Given the description of an element on the screen output the (x, y) to click on. 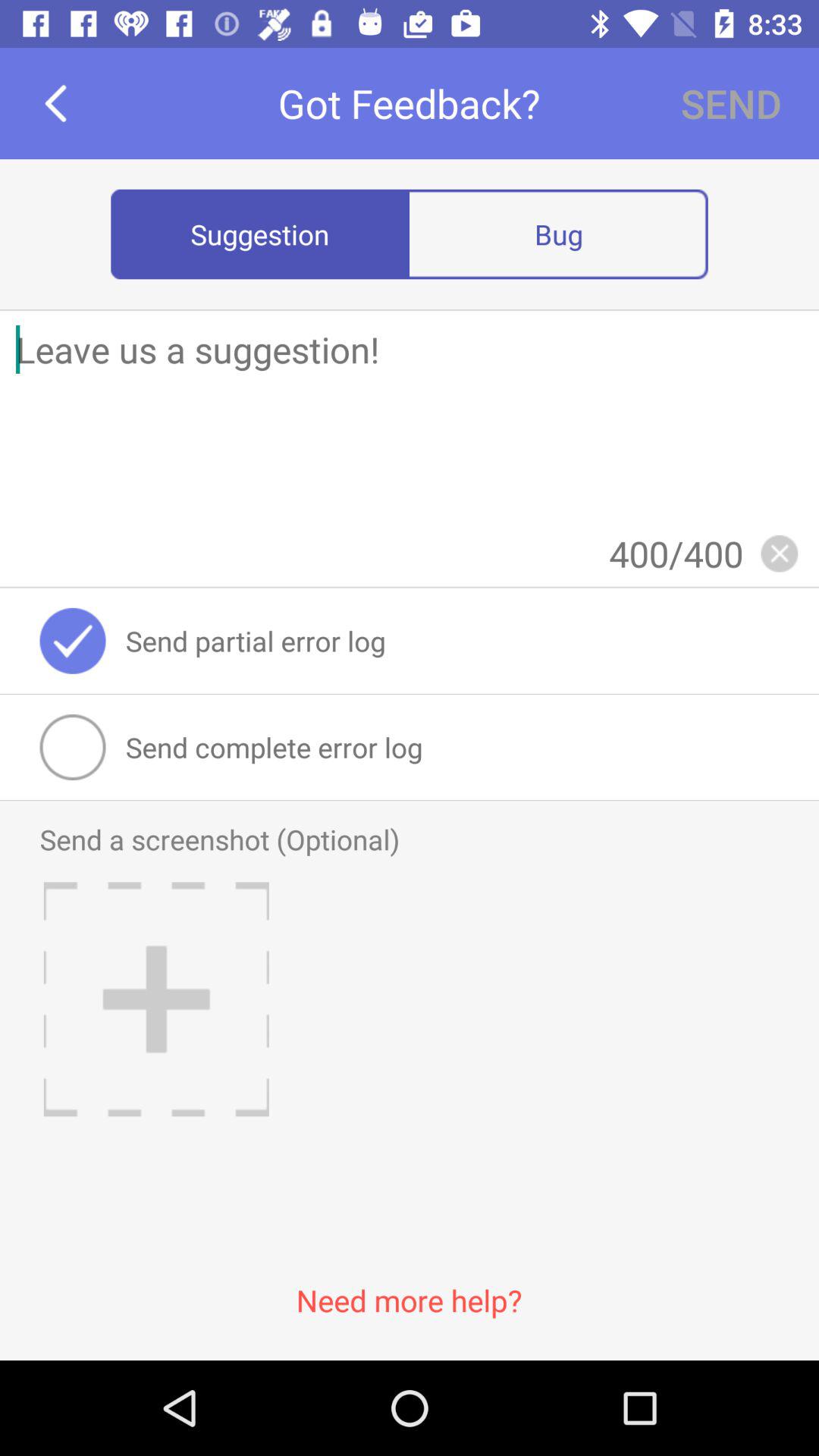
jump until bug radio button (558, 234)
